Given the description of an element on the screen output the (x, y) to click on. 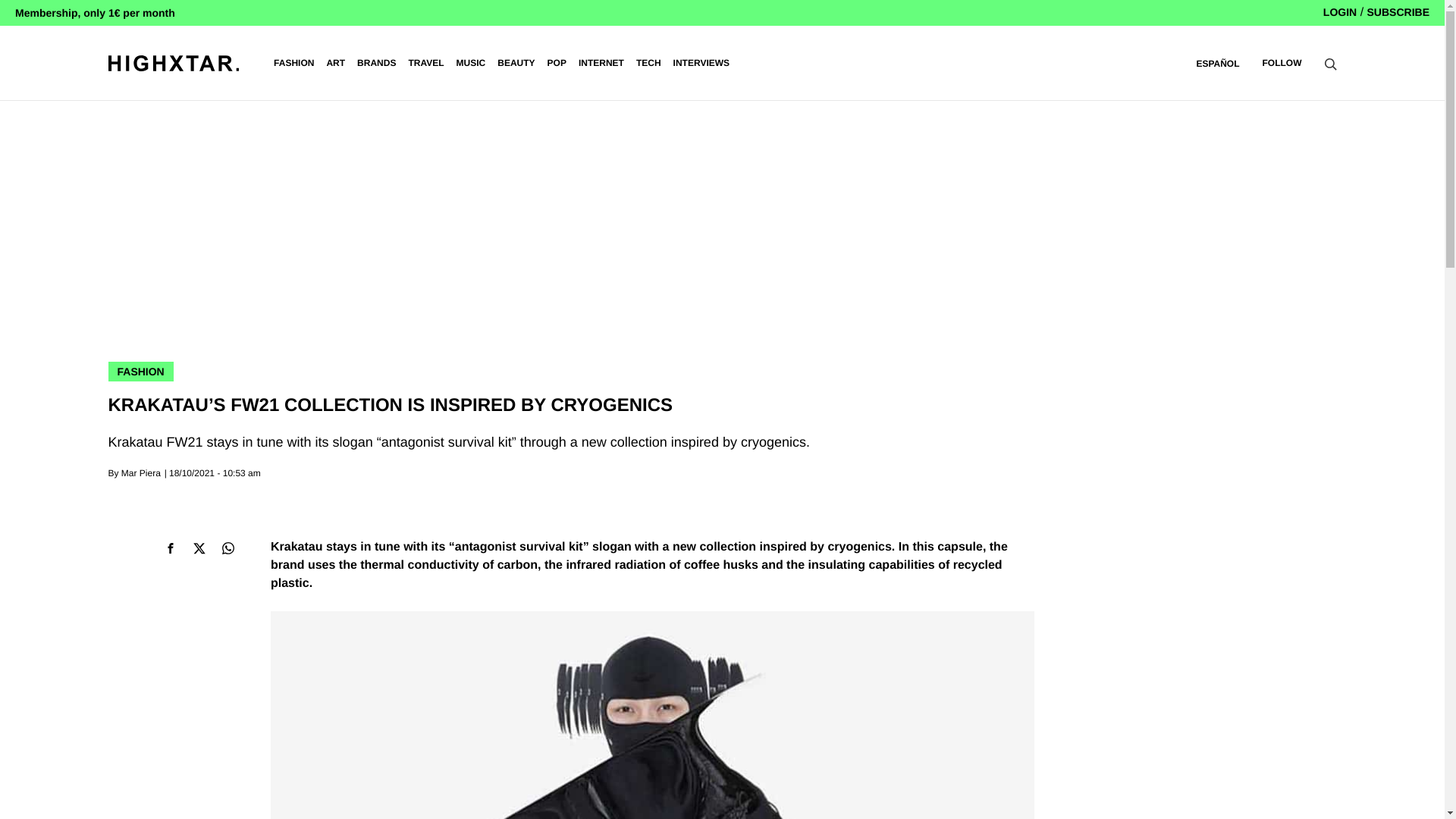
FOLLOW (1281, 62)
SUBSCRIBE (1398, 11)
INTERNET (601, 62)
LOGIN (1339, 11)
FASHION (293, 62)
Follow (1281, 62)
Highxtar (172, 62)
INTERVIEWS (700, 62)
